Given the description of an element on the screen output the (x, y) to click on. 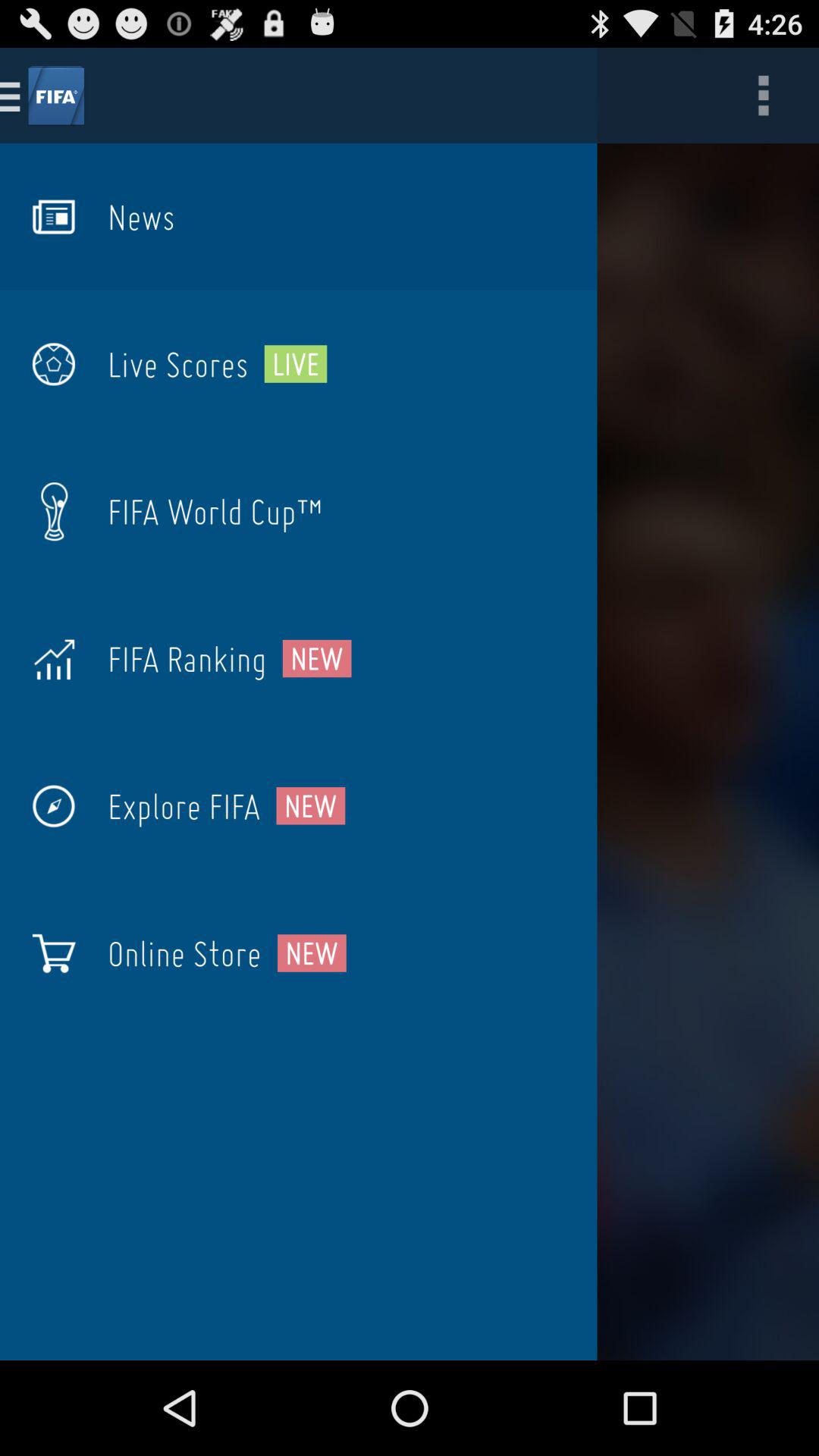
turn on the icon to the left of the new icon (186, 658)
